Given the description of an element on the screen output the (x, y) to click on. 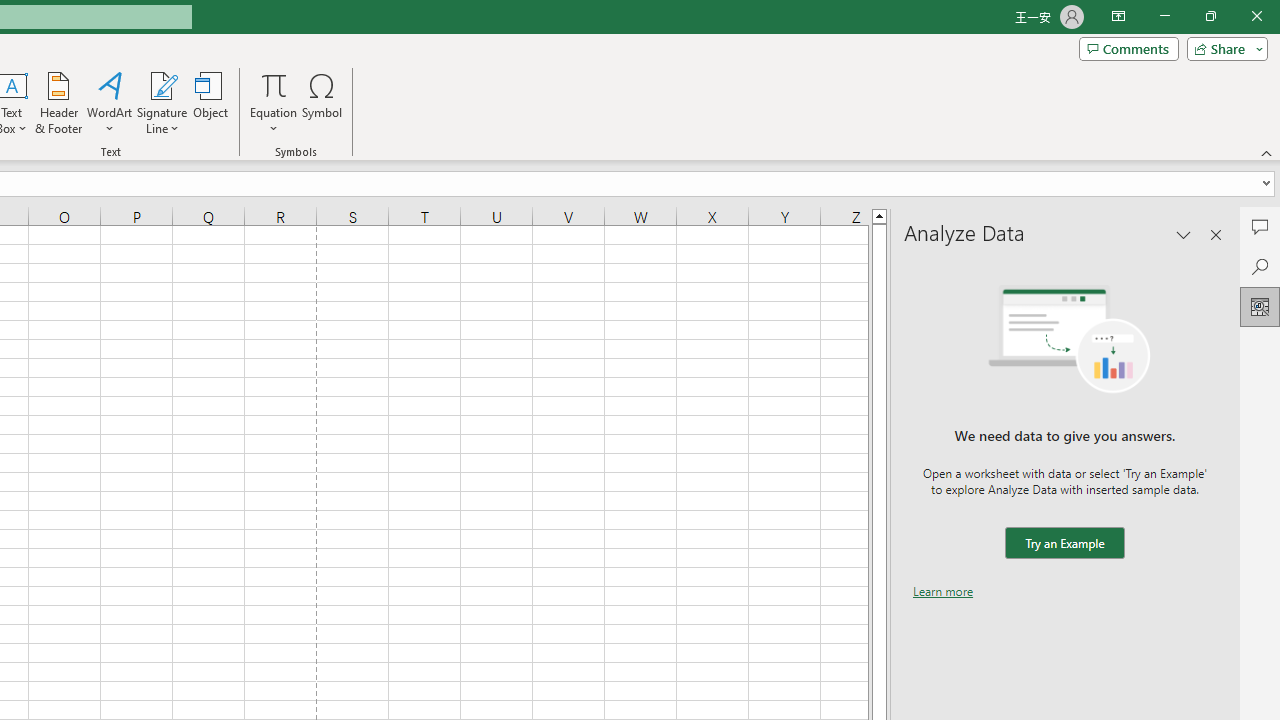
More Options (273, 121)
Comments (1260, 226)
Restore Down (1210, 16)
Equation (273, 84)
Signature Line (161, 102)
Search (1260, 266)
Comments (1128, 48)
Signature Line (161, 84)
We need data to give you answers. Try an Example (1064, 543)
Collapse the Ribbon (1267, 152)
Object... (210, 102)
WordArt (109, 102)
Share (1223, 48)
Symbol... (322, 102)
